Given the description of an element on the screen output the (x, y) to click on. 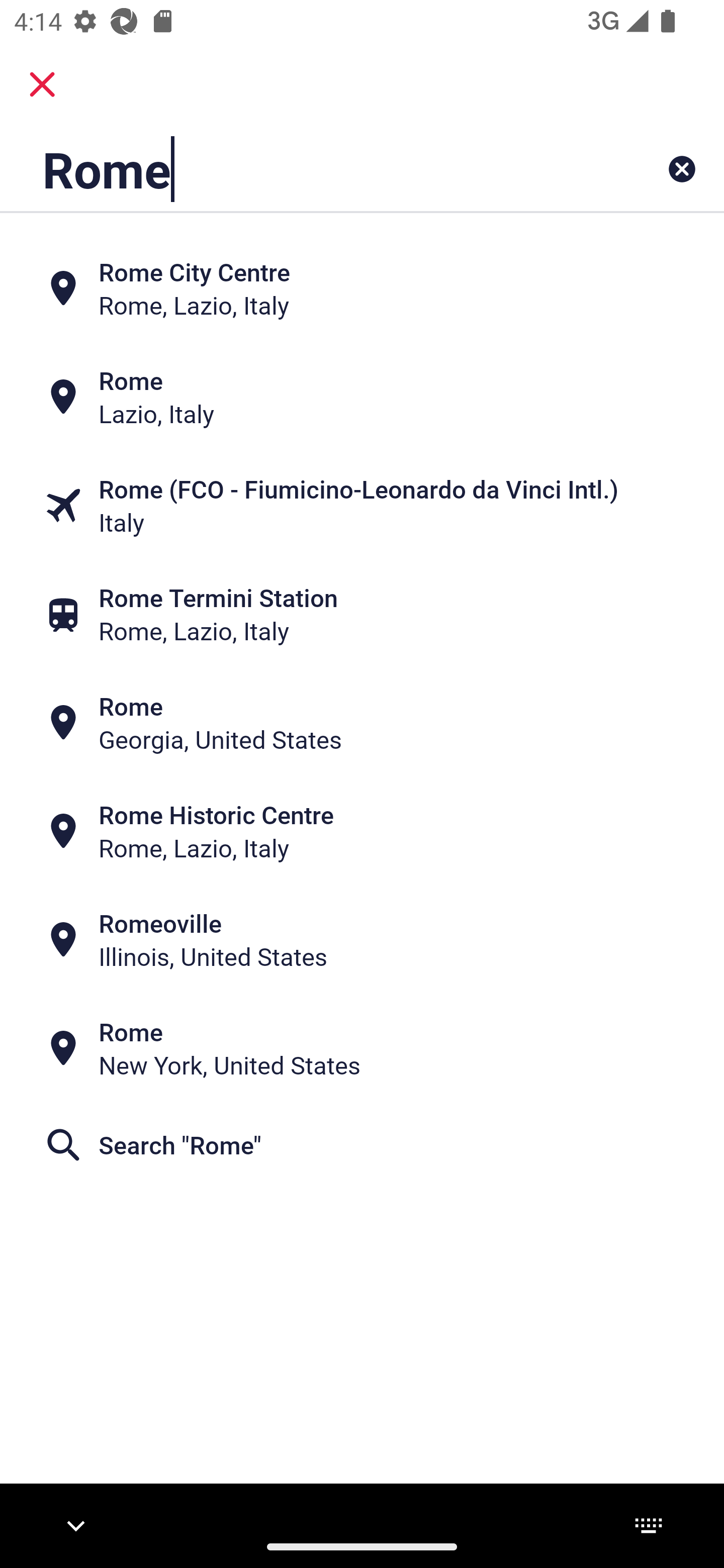
close. (42, 84)
Clear (681, 169)
Rome (298, 169)
Rome City Centre Rome, Lazio, Italy (362, 288)
Rome Lazio, Italy (362, 397)
Rome Termini Station Rome, Lazio, Italy (362, 613)
Rome Georgia, United States (362, 722)
Rome Historic Centre Rome, Lazio, Italy (362, 831)
Romeoville Illinois, United States (362, 939)
Rome New York, United States (362, 1048)
Search "Rome" (362, 1144)
